Given the description of an element on the screen output the (x, y) to click on. 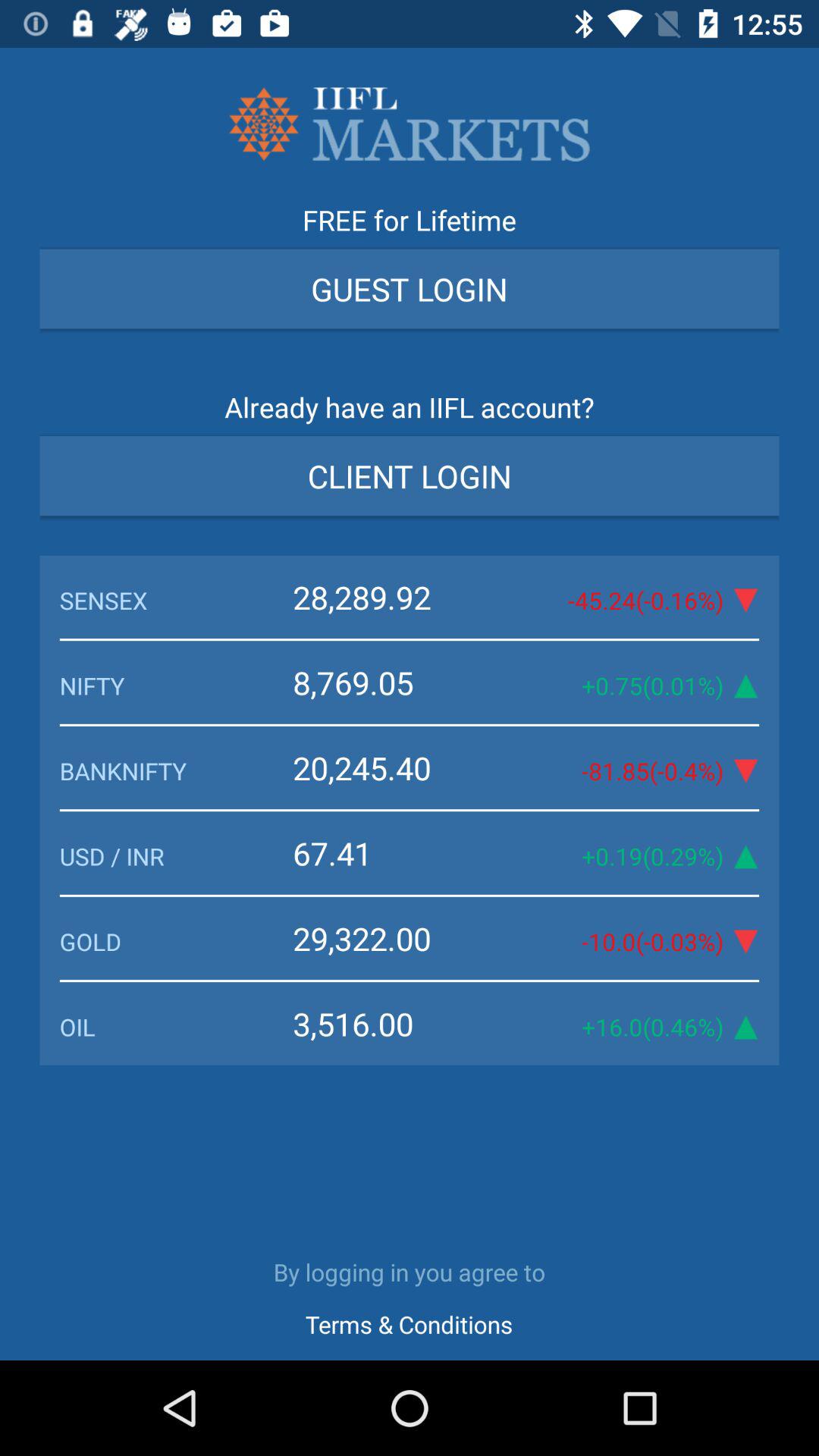
turn on the icon above the 67.41 icon (175, 770)
